Given the description of an element on the screen output the (x, y) to click on. 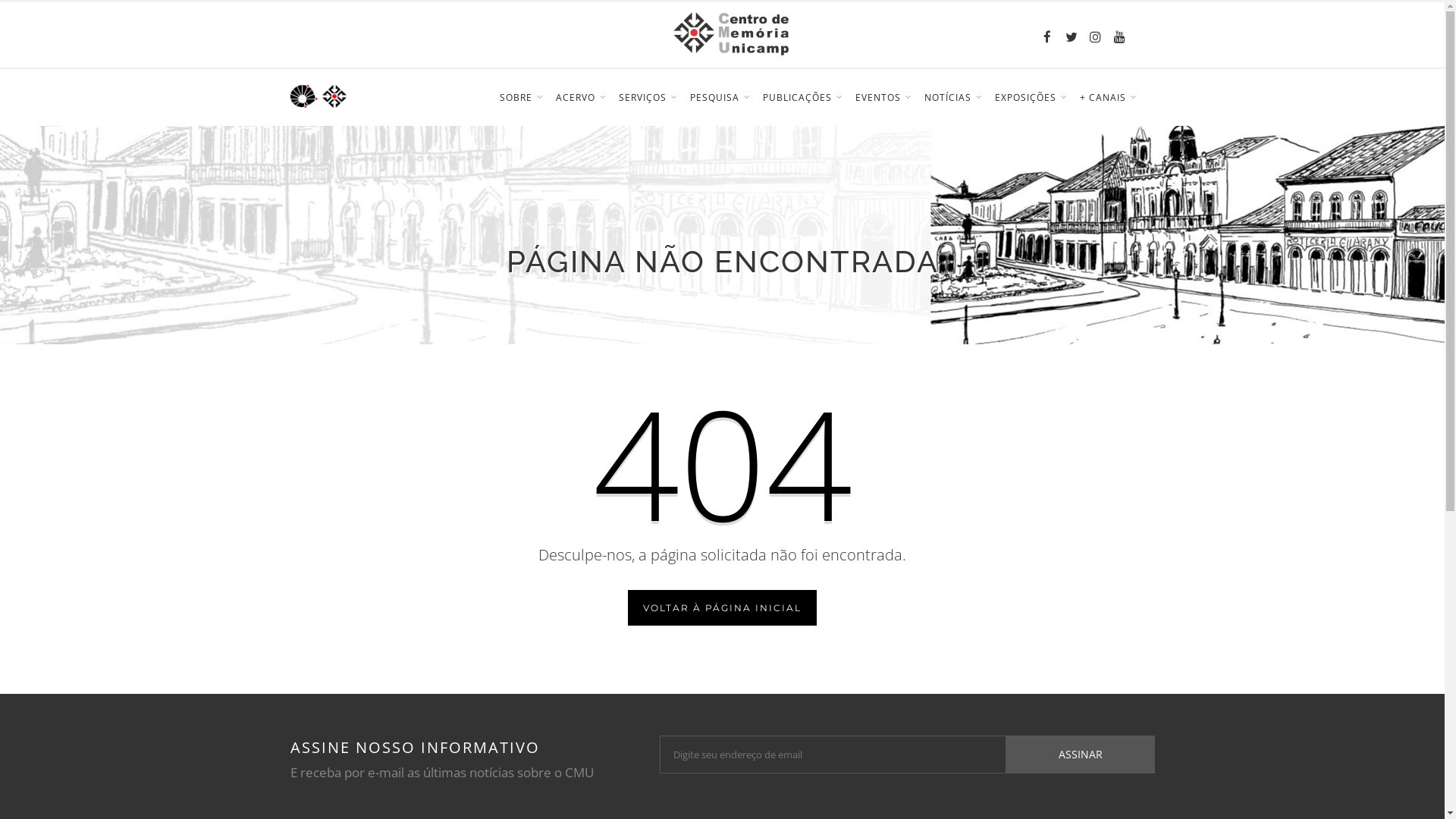
SOBRE Element type: text (520, 97)
Twitter Element type: hover (1070, 33)
Instagram Element type: hover (1094, 33)
YouTube Element type: hover (1119, 33)
PESQUISA Element type: text (720, 97)
EVENTOS Element type: text (883, 97)
+ CANAIS Element type: text (1108, 97)
Facebook Element type: hover (1046, 33)
ACERVO Element type: text (580, 97)
ASSINAR Element type: text (1080, 754)
